Given the description of an element on the screen output the (x, y) to click on. 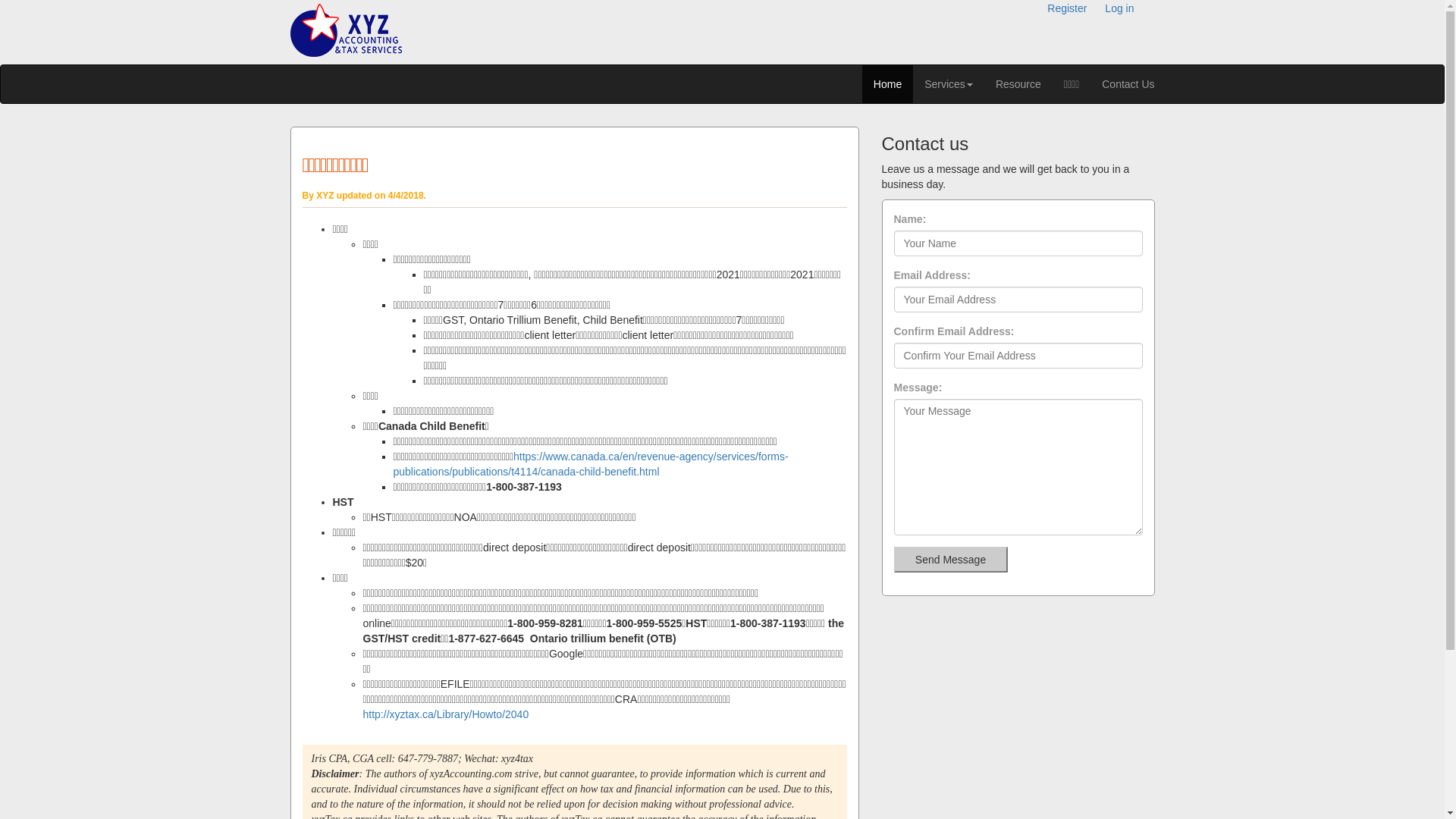
Contact Us Element type: text (1127, 84)
Resource Element type: text (1018, 84)
Register Element type: text (1066, 8)
Services Element type: text (948, 84)
http://xyztax.ca/Library/Howto/2040 Element type: text (445, 714)
xyztax.ca Element type: hover (345, 29)
Send Message Element type: text (950, 559)
Home Element type: text (887, 84)
Log in Element type: text (1118, 8)
